Given the description of an element on the screen output the (x, y) to click on. 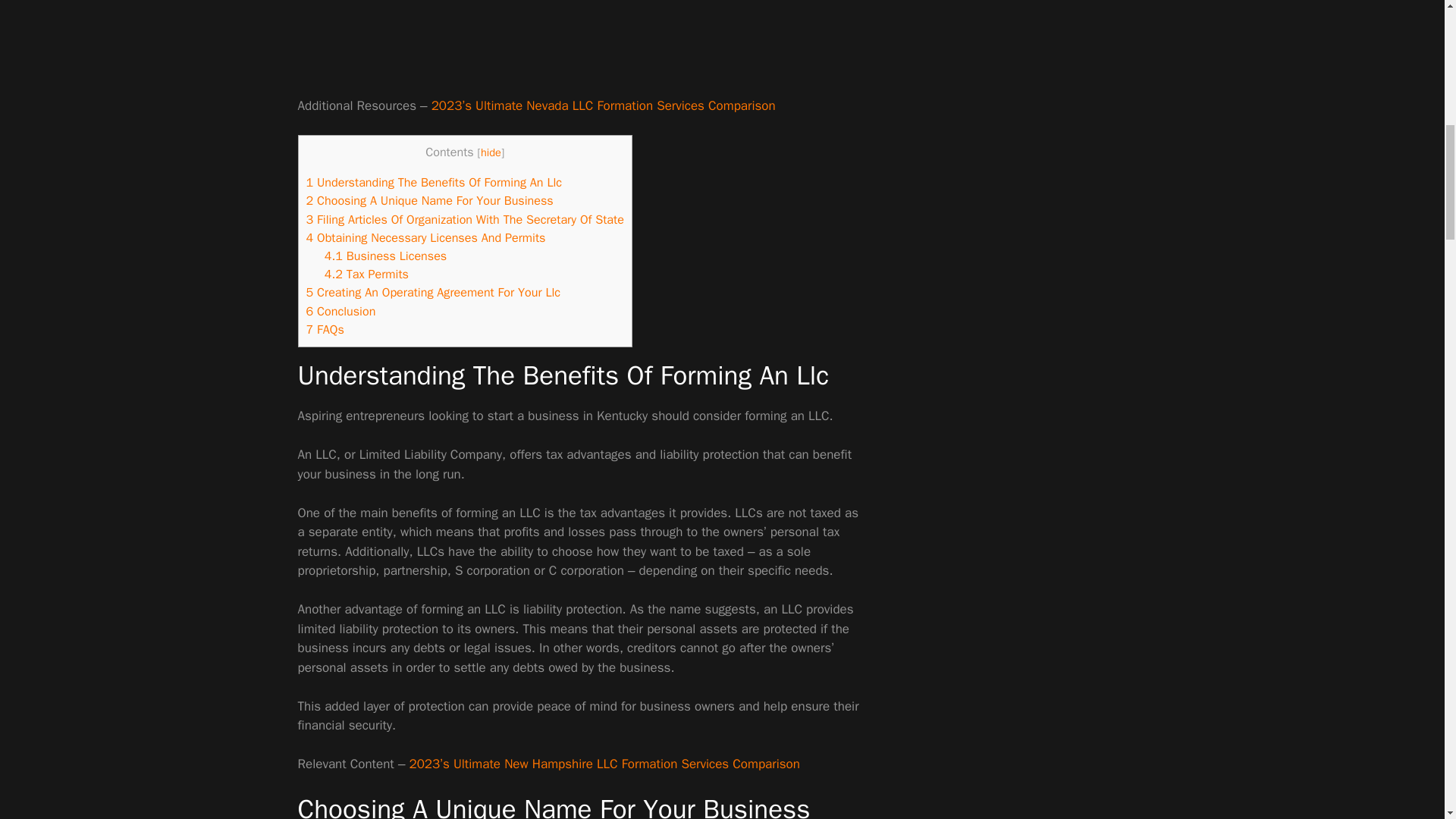
4.2 Tax Permits (366, 273)
1 Understanding The Benefits Of Forming An Llc (433, 182)
4.1 Business Licenses (385, 255)
5 Creating An Operating Agreement For Your Llc (432, 292)
hide (490, 151)
4 Obtaining Necessary Licenses And Permits (425, 237)
2 Choosing A Unique Name For Your Business (429, 200)
6 Conclusion (340, 311)
7 FAQs (324, 329)
